Given the description of an element on the screen output the (x, y) to click on. 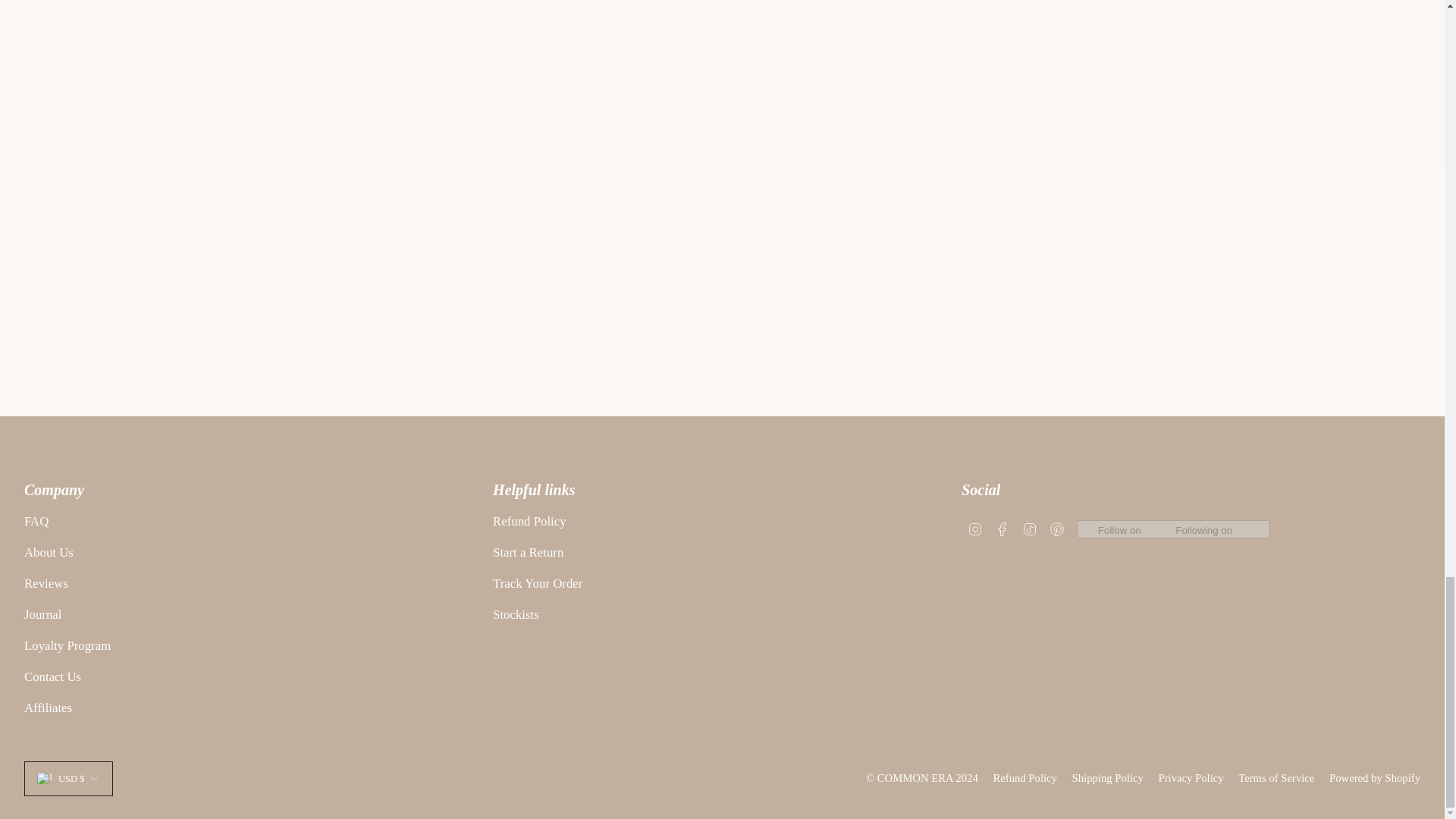
COMMON ERA on TikTok (1029, 527)
COMMON ERA on Facebook (1002, 527)
COMMON ERA on Instagram (975, 527)
COMMON ERA on Pinterest (1056, 527)
